Given the description of an element on the screen output the (x, y) to click on. 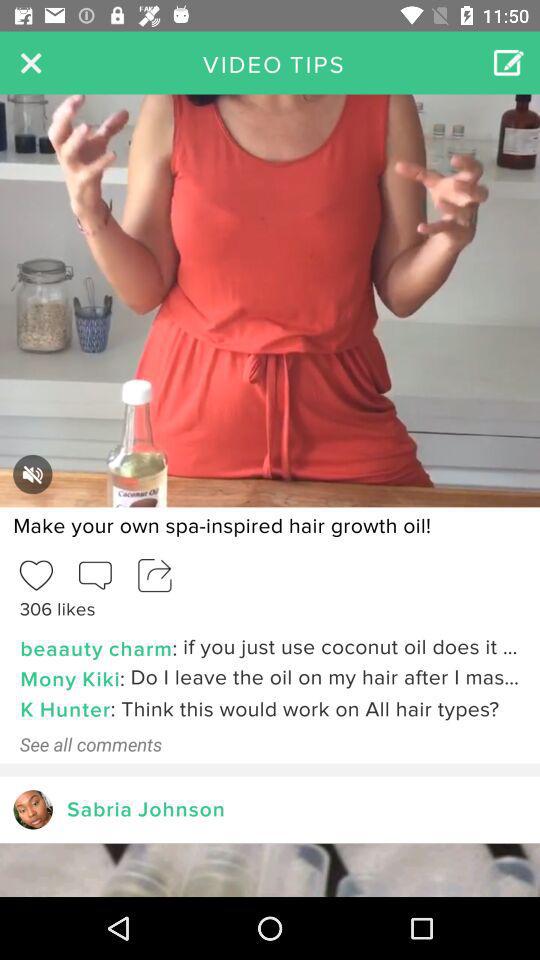
dp option (32, 809)
